Given the description of an element on the screen output the (x, y) to click on. 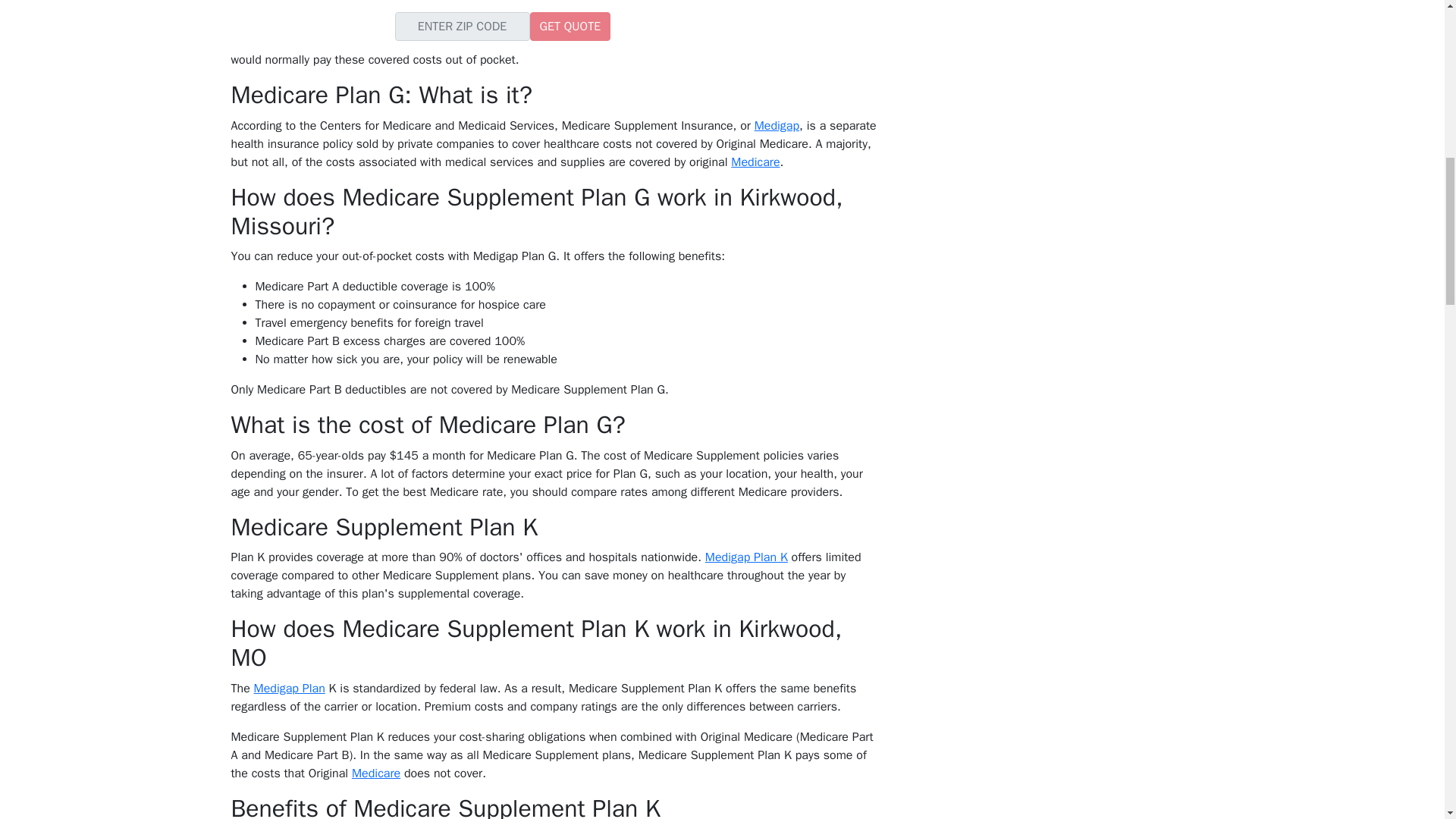
Medigap Plan (288, 688)
Medicare Supplemental Plan G (726, 23)
Medigap Plan K (745, 557)
Medigap (776, 125)
Medicare (754, 161)
Medicare (376, 773)
